Given the description of an element on the screen output the (x, y) to click on. 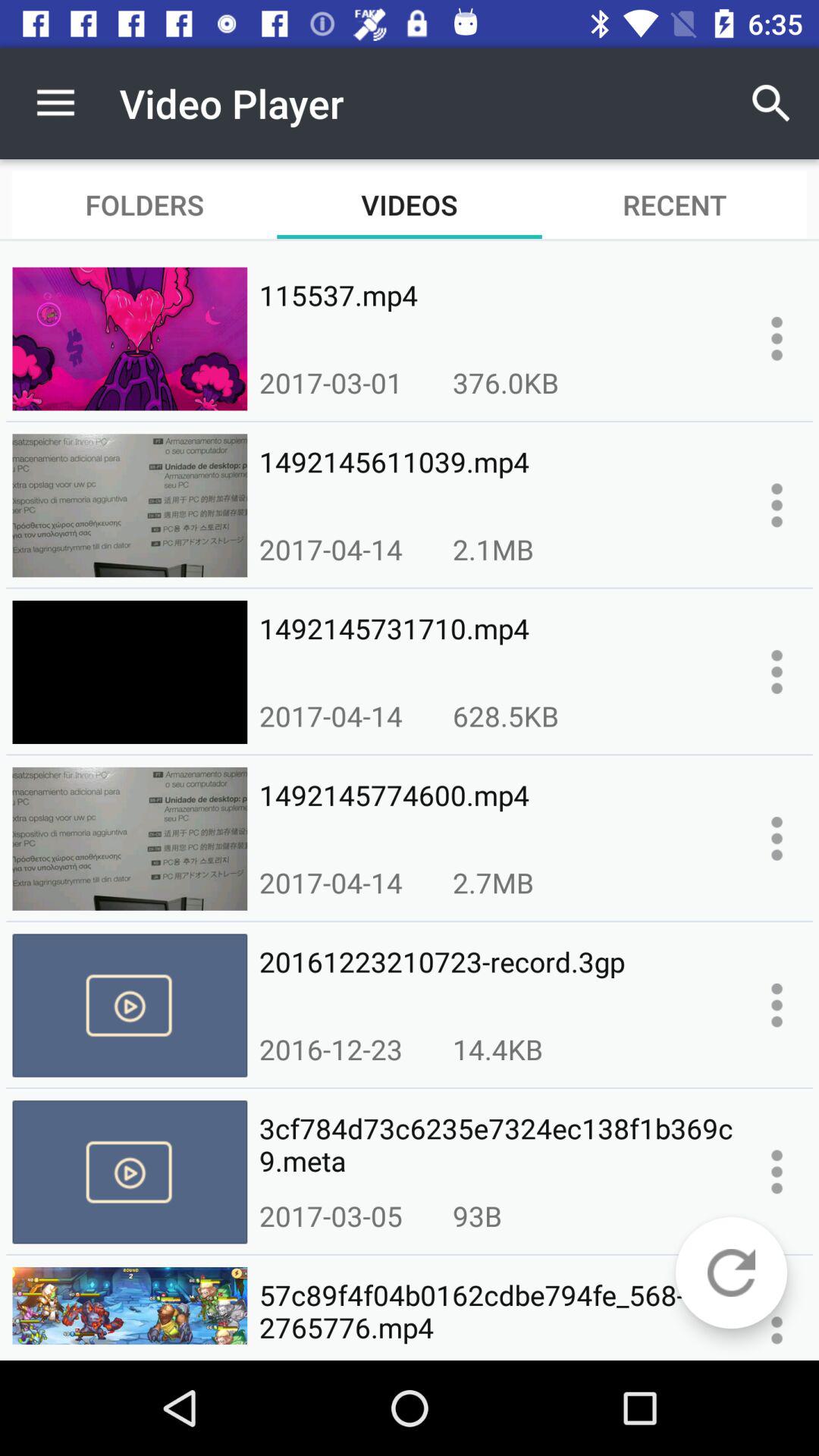
view options (776, 671)
